Given the description of an element on the screen output the (x, y) to click on. 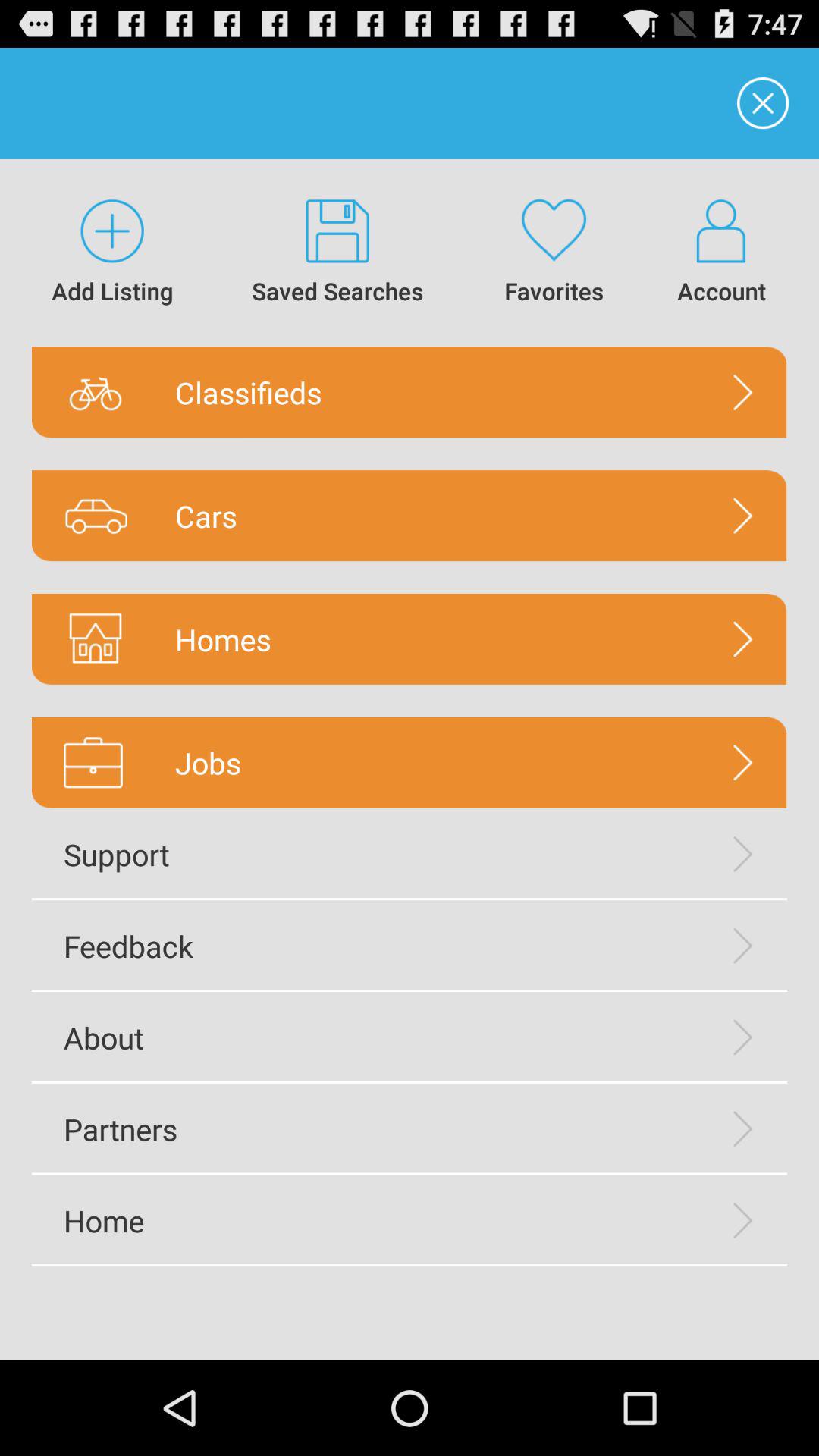
click icon next to the saved searches (112, 253)
